Given the description of an element on the screen output the (x, y) to click on. 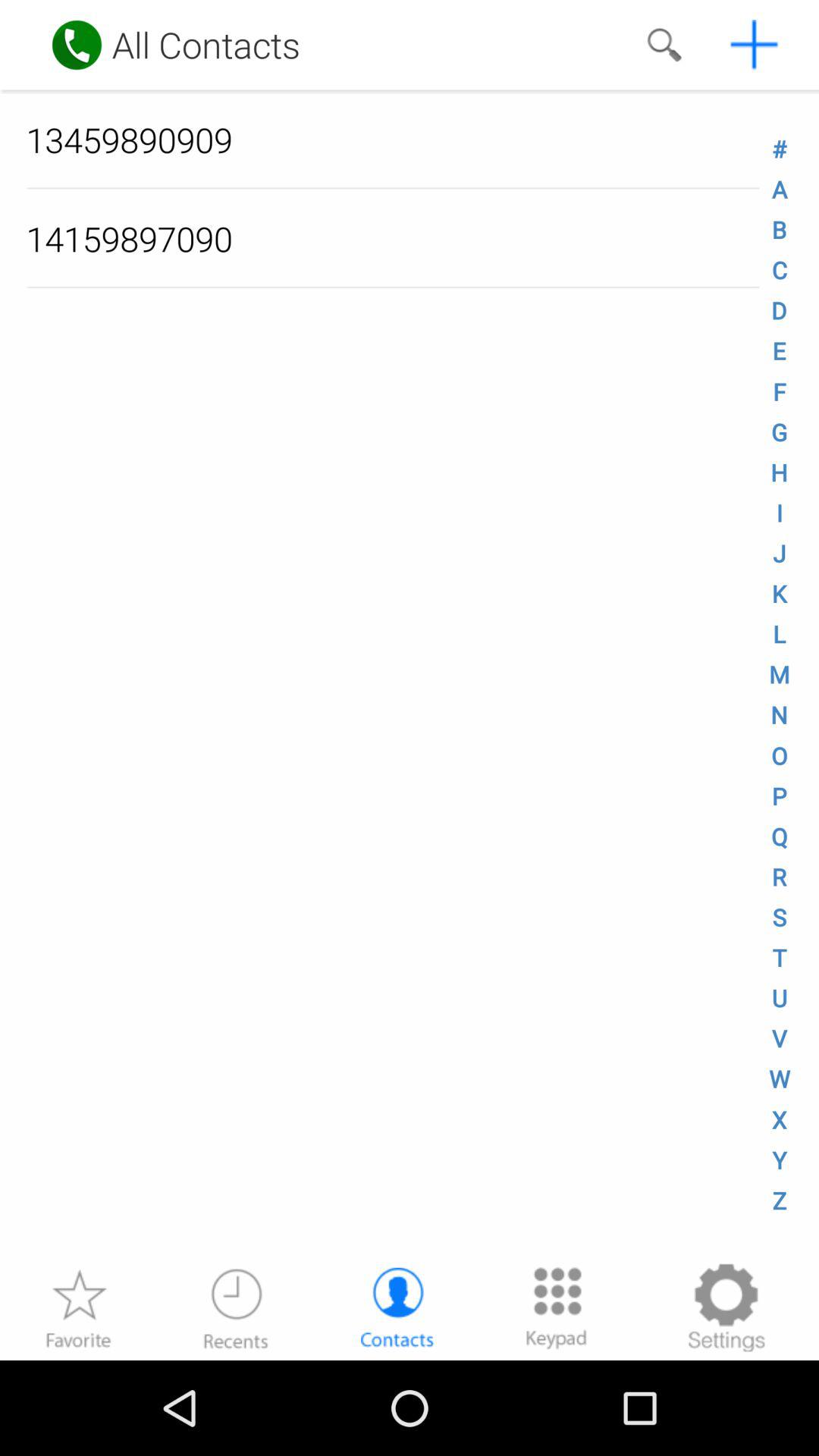
click to make a call (76, 44)
